Given the description of an element on the screen output the (x, y) to click on. 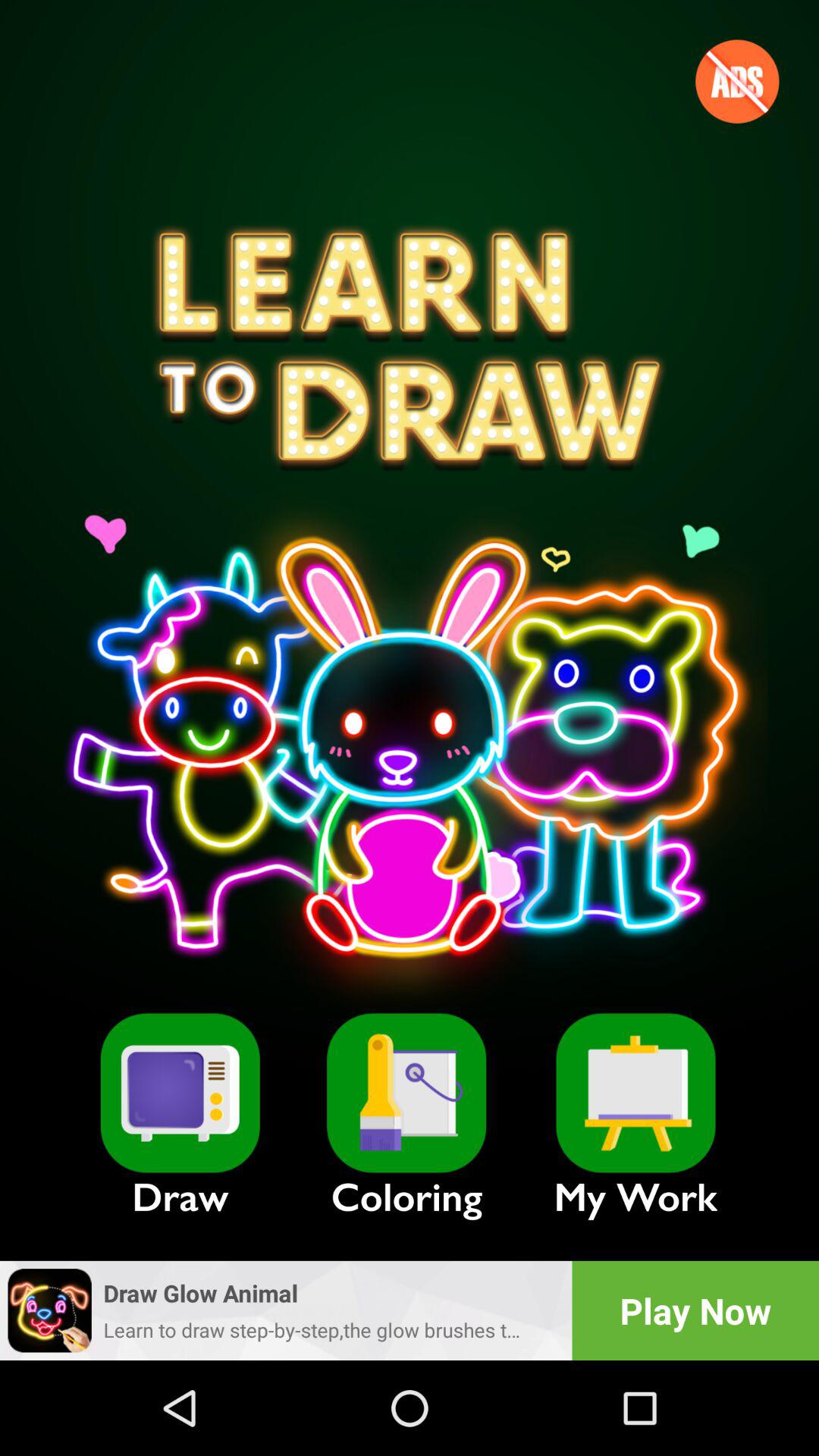
turn off the item below the my work item (695, 1310)
